Given the description of an element on the screen output the (x, y) to click on. 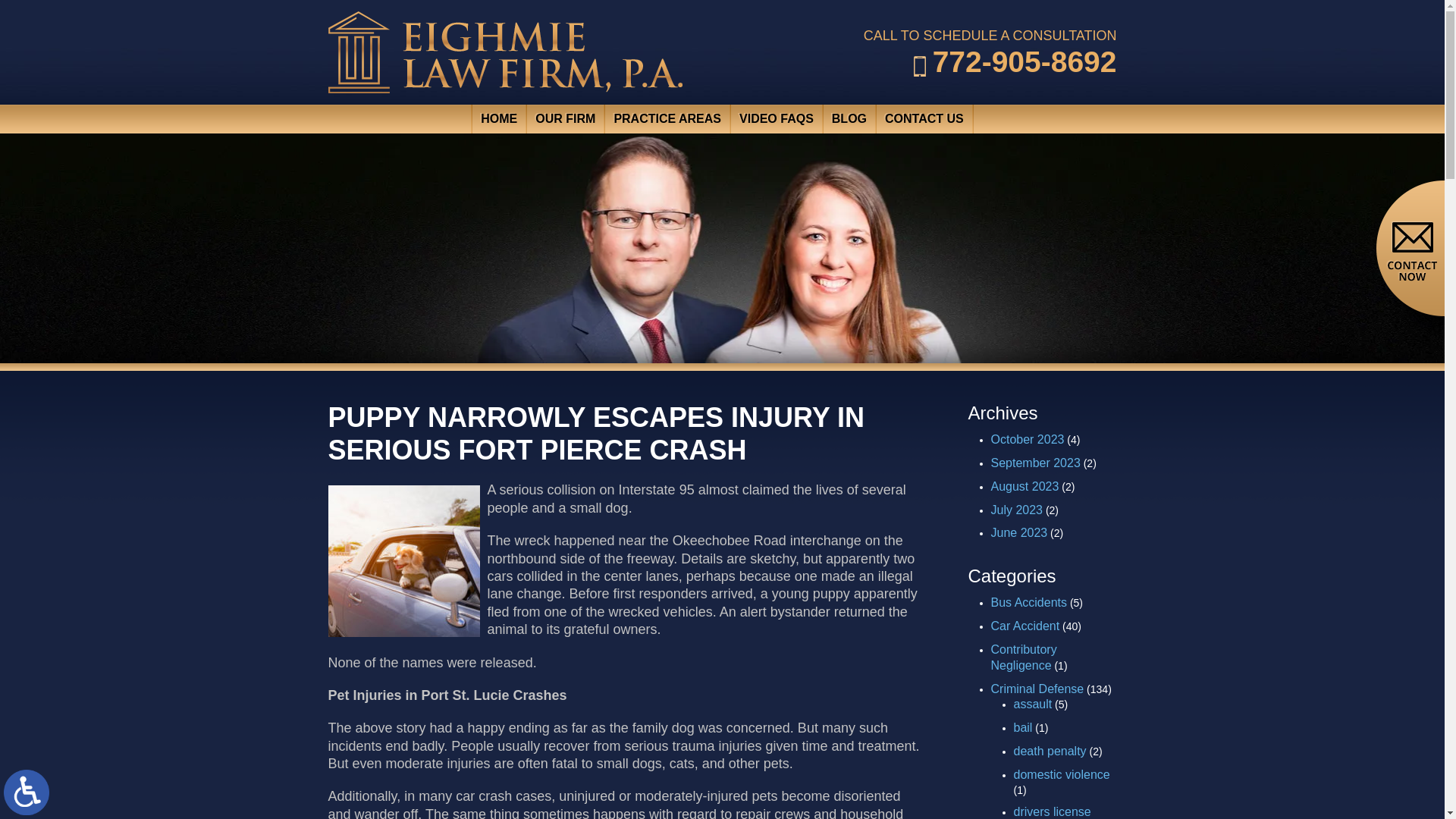
HOME (497, 118)
September 2023 (1035, 462)
VIDEO FAQS (776, 118)
CONTACT US (924, 118)
PRACTICE AREAS (667, 118)
772-905-8692 (1015, 61)
Bus Accidents (1028, 602)
OUR FIRM (565, 118)
June 2023 (1018, 532)
October 2023 (1027, 439)
